Given the description of an element on the screen output the (x, y) to click on. 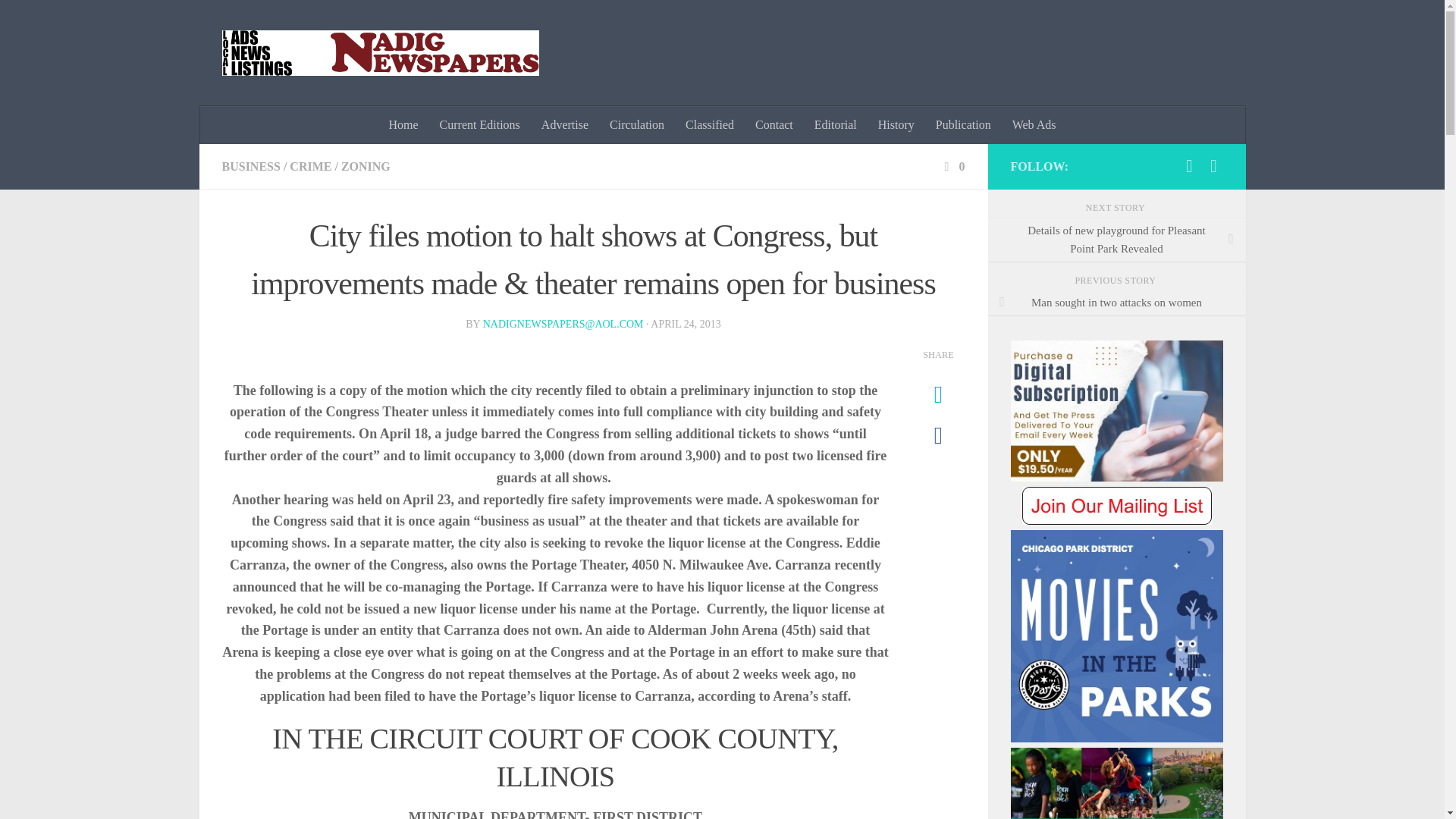
Circulation (636, 125)
BUSINESS (250, 165)
Web Ads (1034, 125)
Skip to content (59, 20)
Follow us on Facebook (1188, 166)
Current Editions (480, 125)
Advertise (564, 125)
Publication (962, 125)
Home (402, 125)
0 (951, 165)
ZONING (365, 165)
Follow us on Twitter (1213, 166)
Classified (709, 125)
CRIME (310, 165)
Contact (773, 125)
